Given the description of an element on the screen output the (x, y) to click on. 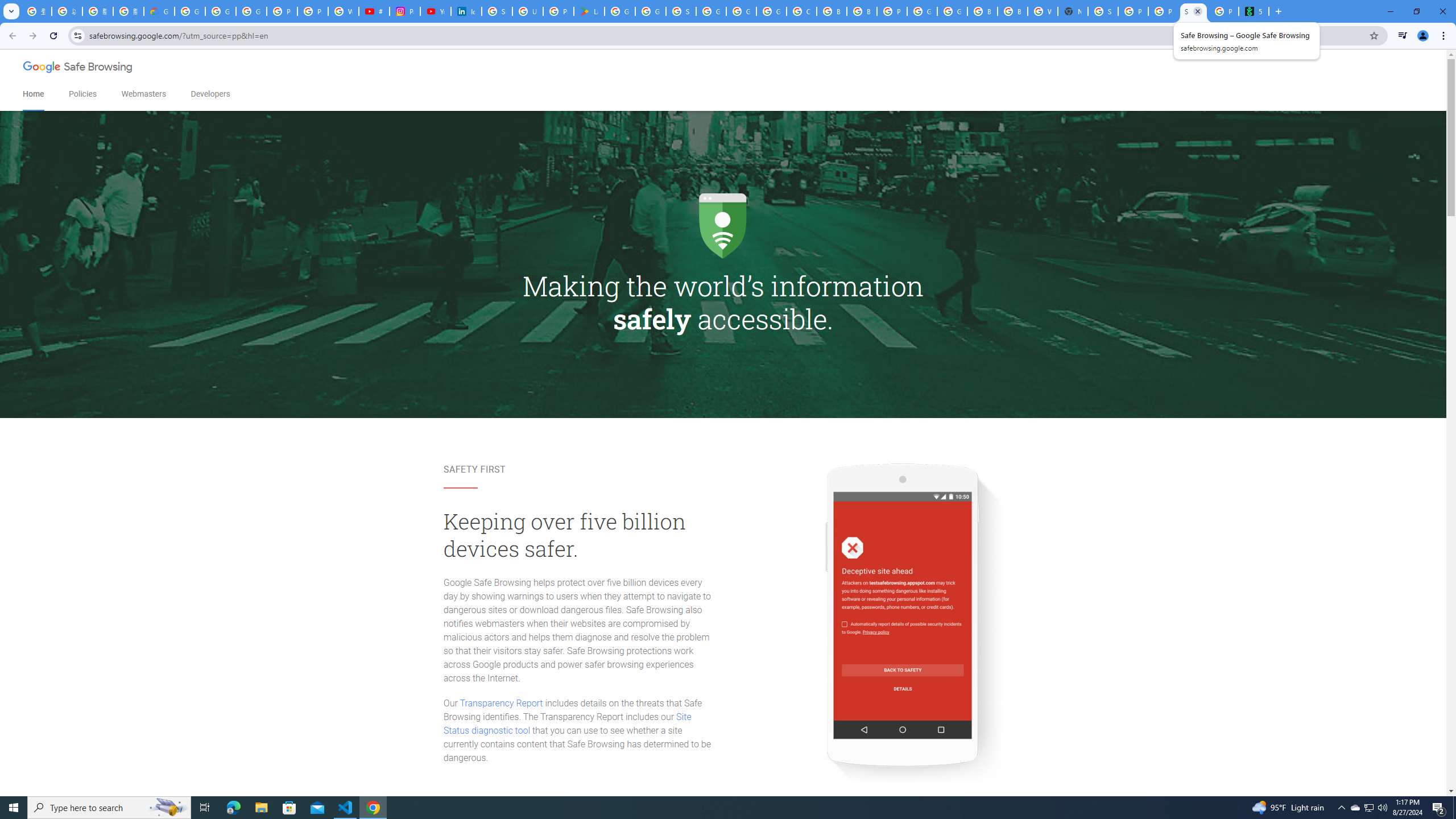
Sign in - Google Accounts (496, 11)
Browse Chrome as a guest - Computer - Google Chrome Help (830, 11)
#nbabasketballhighlights - YouTube (373, 11)
Google Cloud Platform (740, 11)
Google Cloud Platform (922, 11)
